Given the description of an element on the screen output the (x, y) to click on. 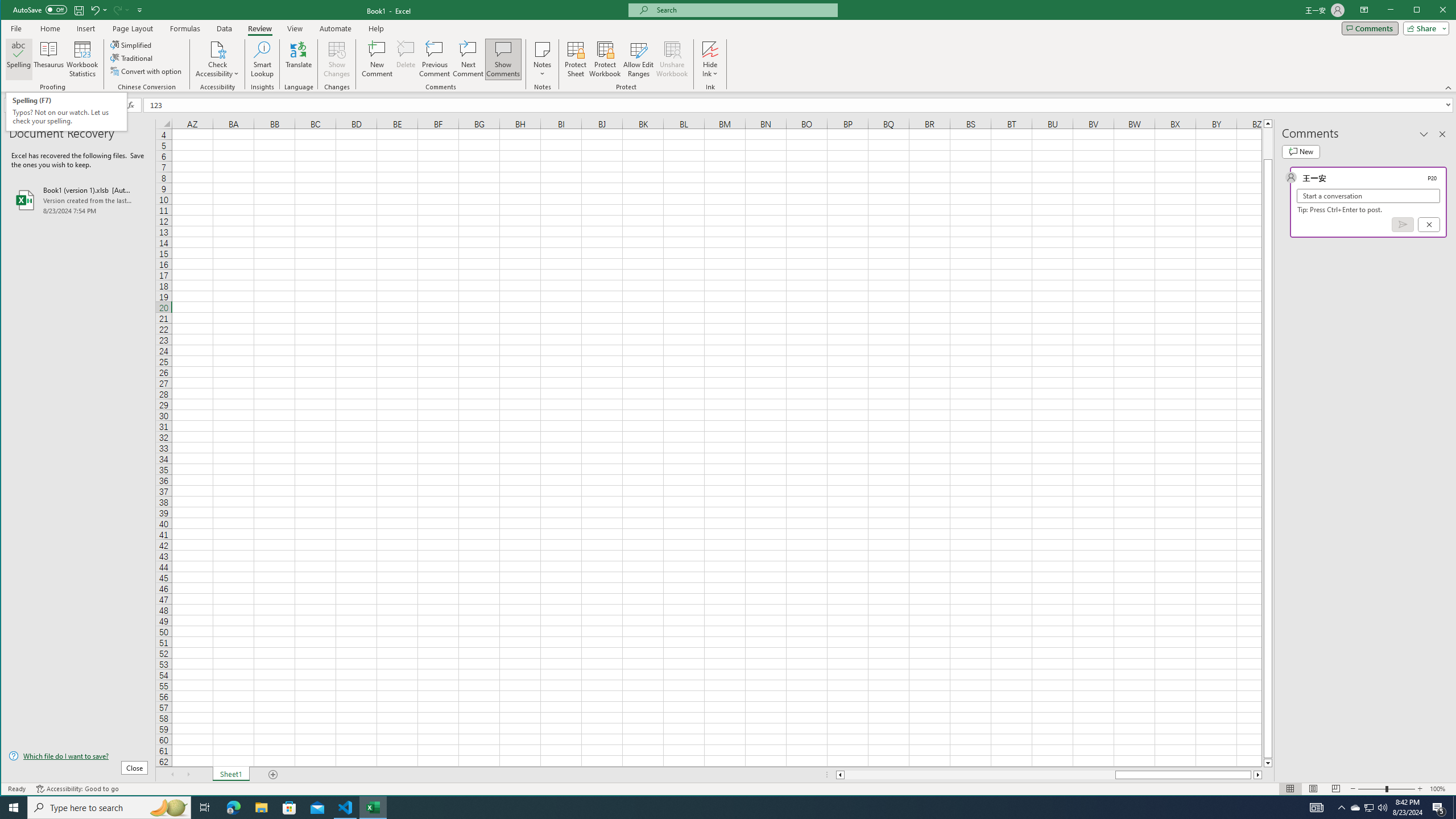
Search highlights icon opens search home window (167, 807)
Show desktop (1454, 807)
Workbook Statistics (82, 59)
Protect Workbook... (604, 59)
Hide Ink (1355, 807)
Check Accessibility (710, 48)
